Given the description of an element on the screen output the (x, y) to click on. 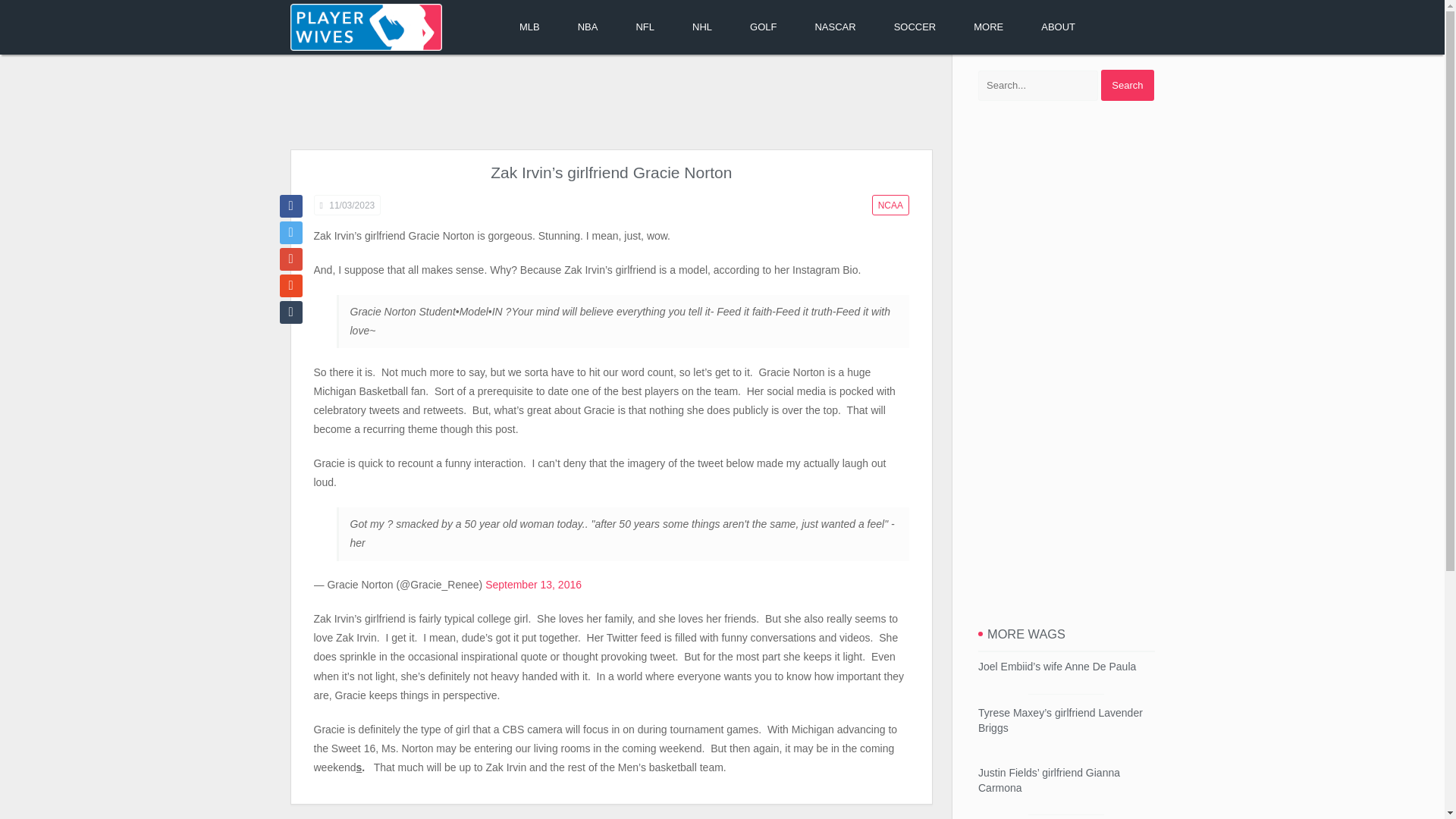
SOCCER (915, 27)
About PlayerWives.com (1058, 27)
NFL (643, 27)
NASCAR (834, 27)
GOLF (762, 27)
NHL Wives (701, 27)
MORE (988, 27)
Golf Wives (762, 27)
search (1127, 84)
MLB (529, 27)
September 13, 2016 (532, 584)
NCAA (889, 204)
More Wives (988, 27)
NBA Wives (588, 27)
Soccer Wives (915, 27)
